Given the description of an element on the screen output the (x, y) to click on. 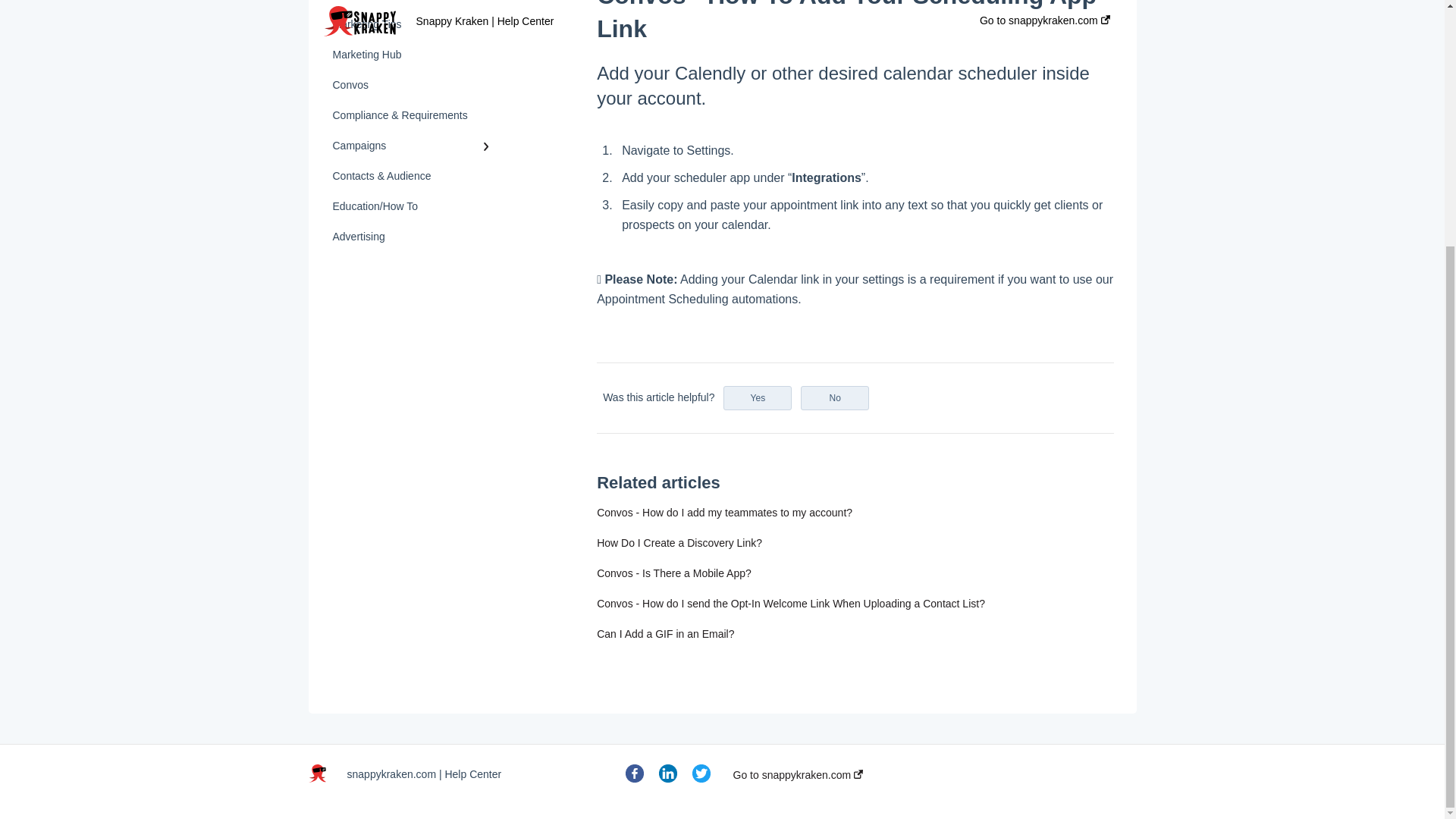
Campaigns (414, 145)
Can I Add a GIF in an Email? (664, 633)
Convos - How do I add my teammates to my account? (723, 512)
Convos (414, 84)
Technical Assistance (414, 4)
Advertising (414, 236)
Marketing Tips (414, 24)
Marketing Hub (414, 54)
How Do I Create a Discovery Link? (678, 542)
No (834, 397)
Yes (757, 397)
Convos - Is There a Mobile App? (673, 573)
